Given the description of an element on the screen output the (x, y) to click on. 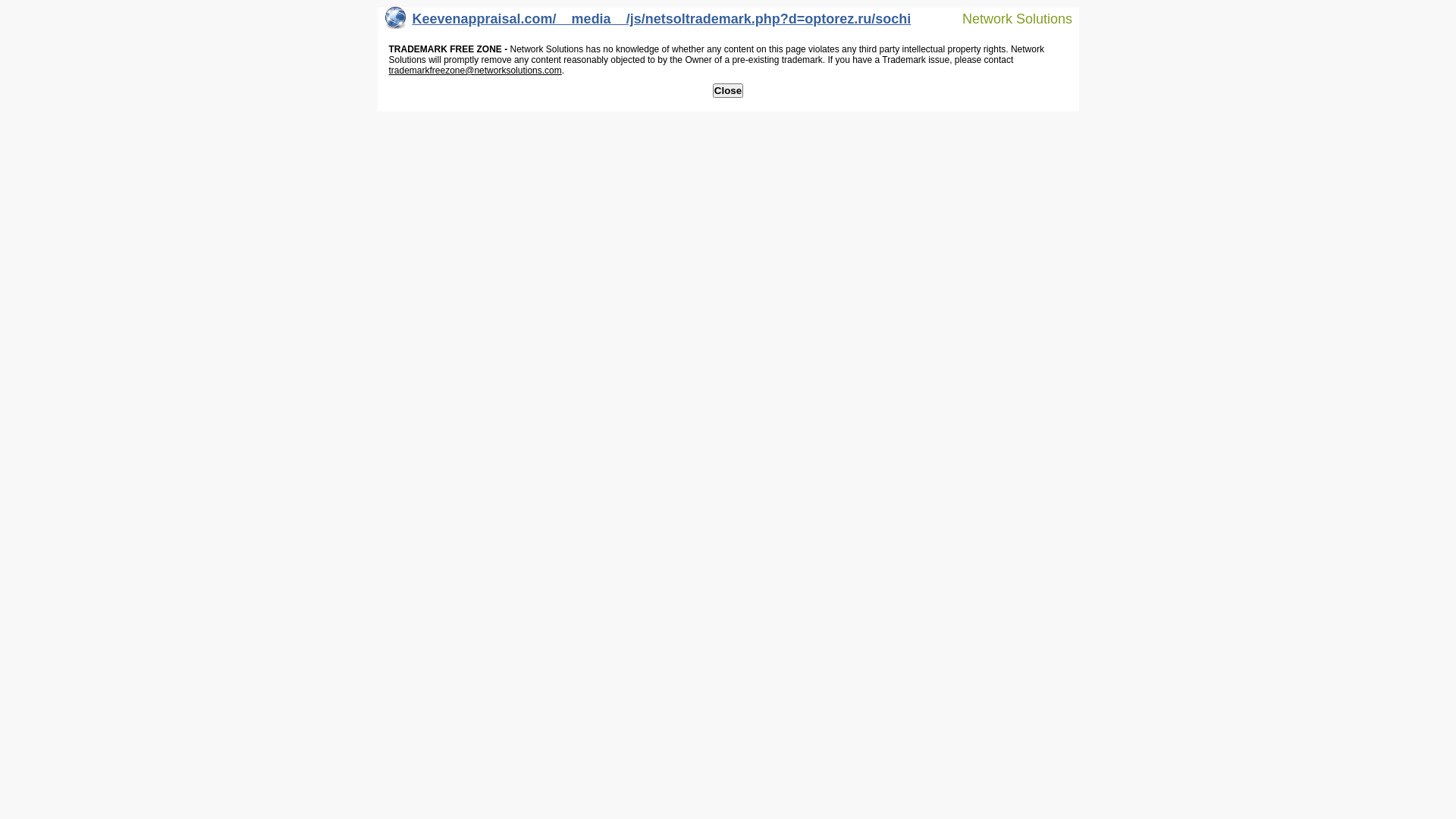
trademarkfreezone@networksolutions.com Element type: text (474, 70)
Network Solutions Element type: text (1007, 17)
Close Element type: text (727, 90)
